Given the description of an element on the screen output the (x, y) to click on. 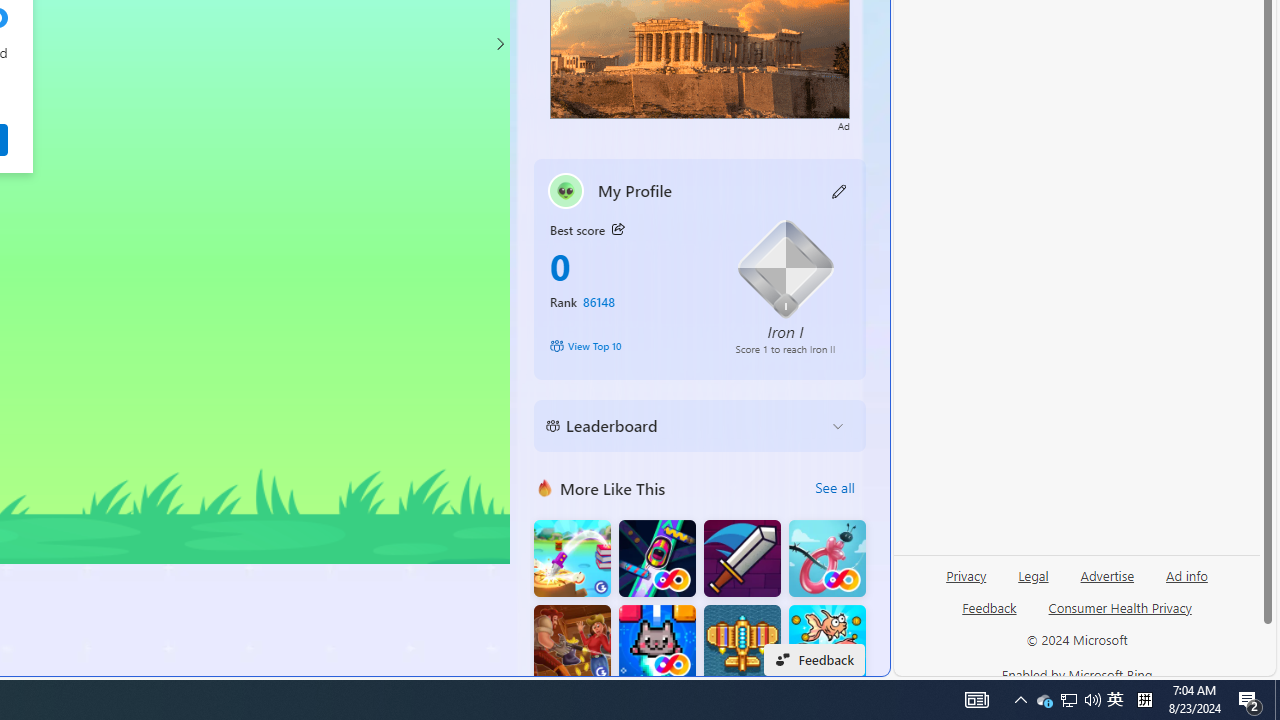
Class: button edit-icon (839, 190)
Kitten Force FRVR (657, 643)
View Top 10 (628, 345)
